Given the description of an element on the screen output the (x, y) to click on. 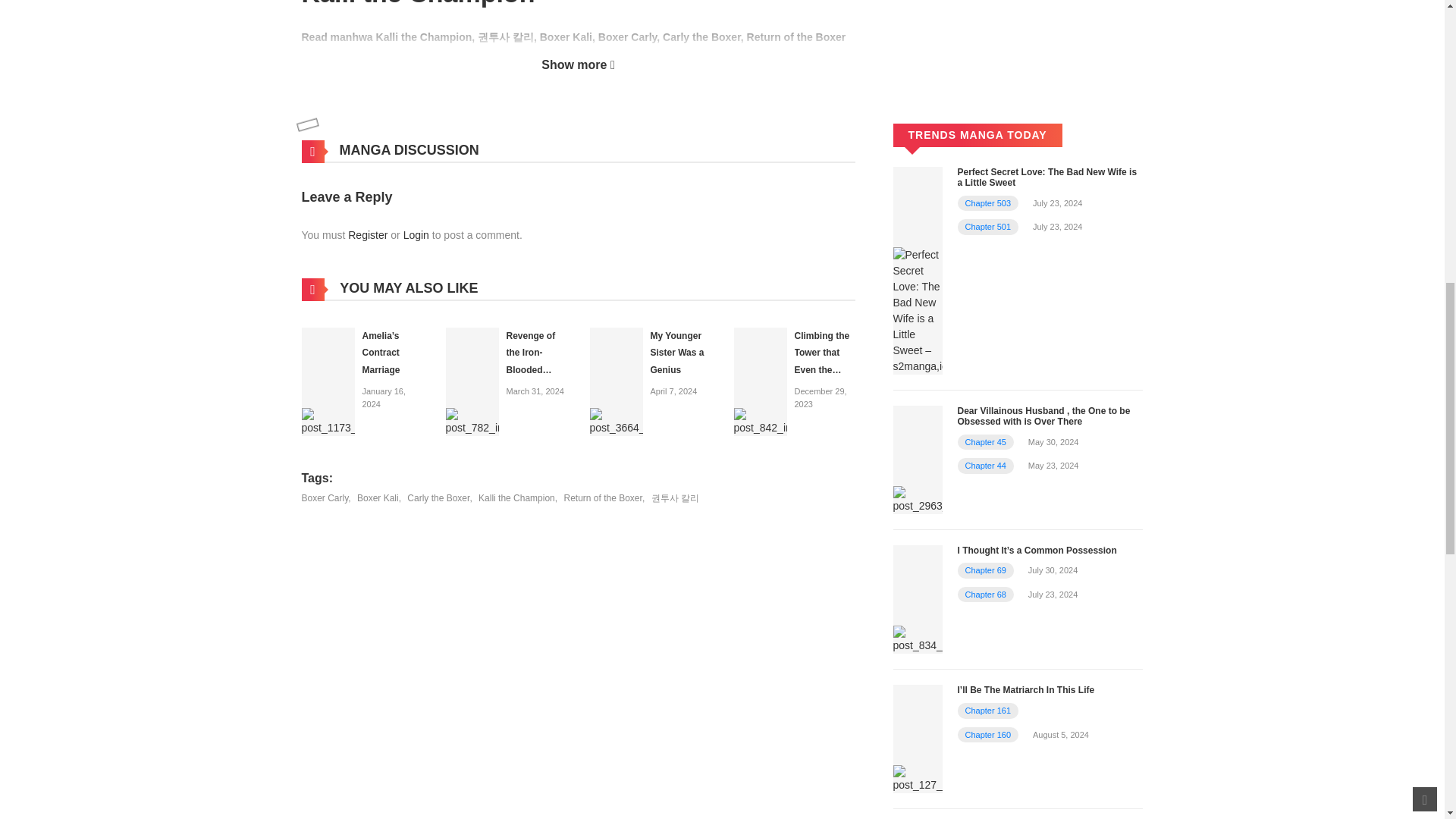
Perfect Secret Love: The Bad New Wife is a Little Sweet (917, 269)
My Younger Sister Was a Genius (677, 352)
Perfect Secret Love: The Bad New Wife is a Little Sweet (1046, 177)
Revenge of the Iron-Blooded Sword Hound (536, 361)
My Younger Sister Was a Genius (616, 380)
Revenge of the Iron-Blooded Sword Hound (472, 380)
